Given the description of an element on the screen output the (x, y) to click on. 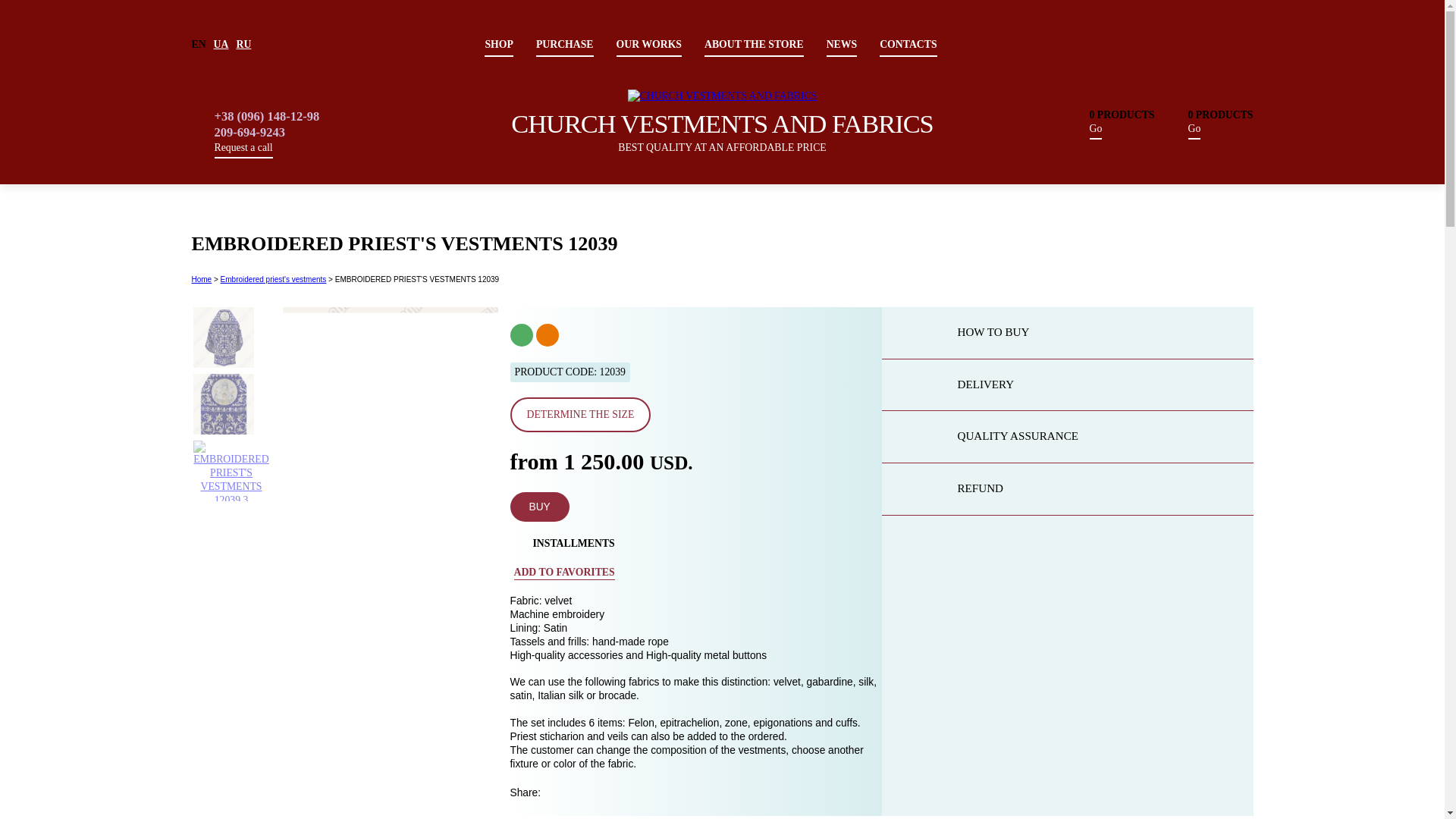
PURCHASE (564, 43)
OUR WORKS (648, 43)
EMBROIDERED PRIEST'S VESTMENTS 12039 1 - Oblachenie (222, 337)
Cargo insurance (546, 334)
Home (200, 279)
EMBROIDERED PRIEST'S VESTMENTS 12039 2 - Oblachenie (222, 403)
HOW TO BUY (1066, 333)
Find (1111, 90)
EMBROIDERED PRIEST'S VESTMENTS 12039 - Oblachenie (389, 414)
UA (221, 43)
DELIVERY (1066, 385)
NEWS (842, 43)
Embroidered priest's vestments (273, 279)
EMBROIDERED PRIEST'S VESTMENTS 12039 (230, 470)
Church vestments and fabrics (721, 96)
